Given the description of an element on the screen output the (x, y) to click on. 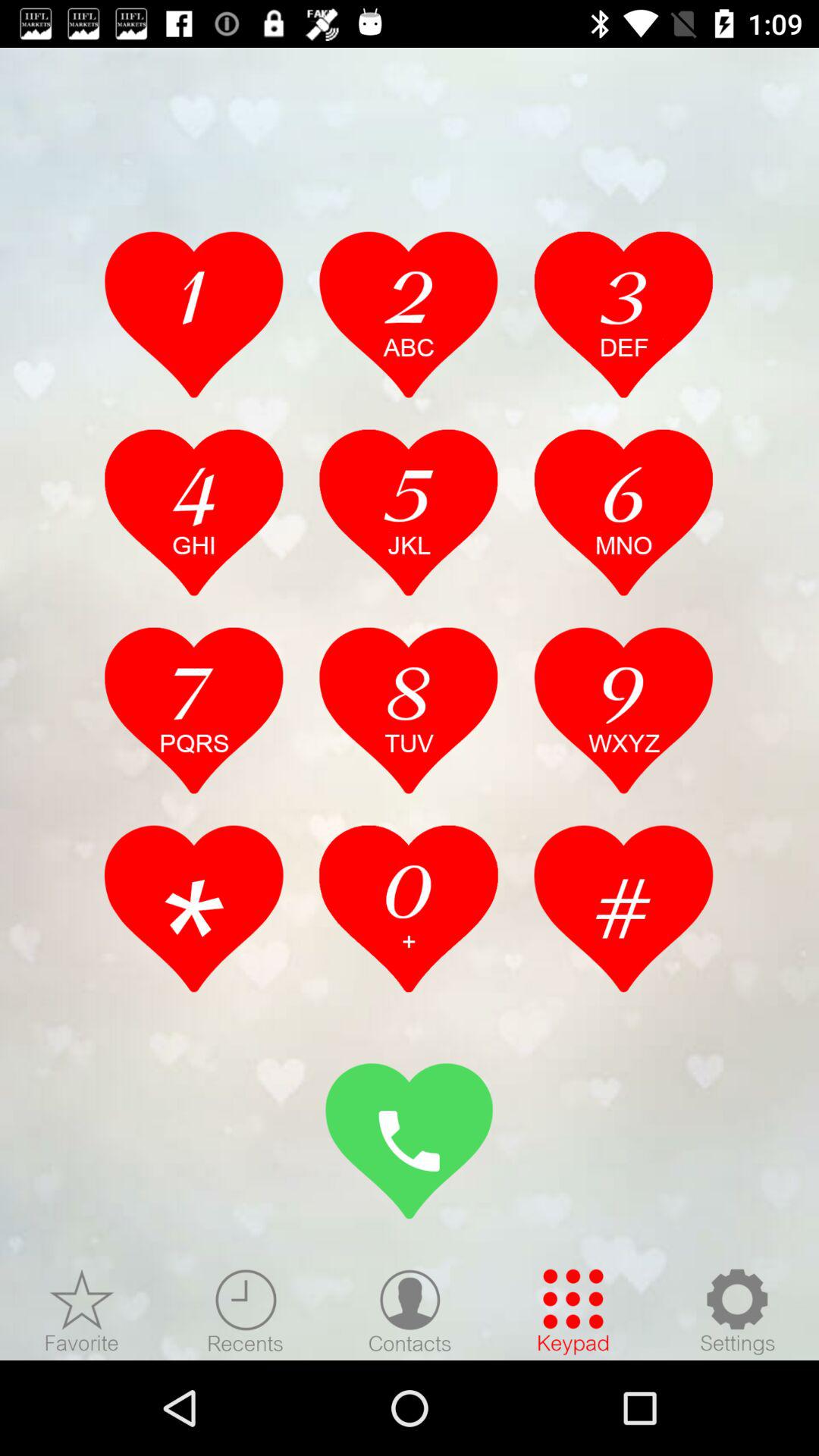
toggle call log (408, 908)
